Given the description of an element on the screen output the (x, y) to click on. 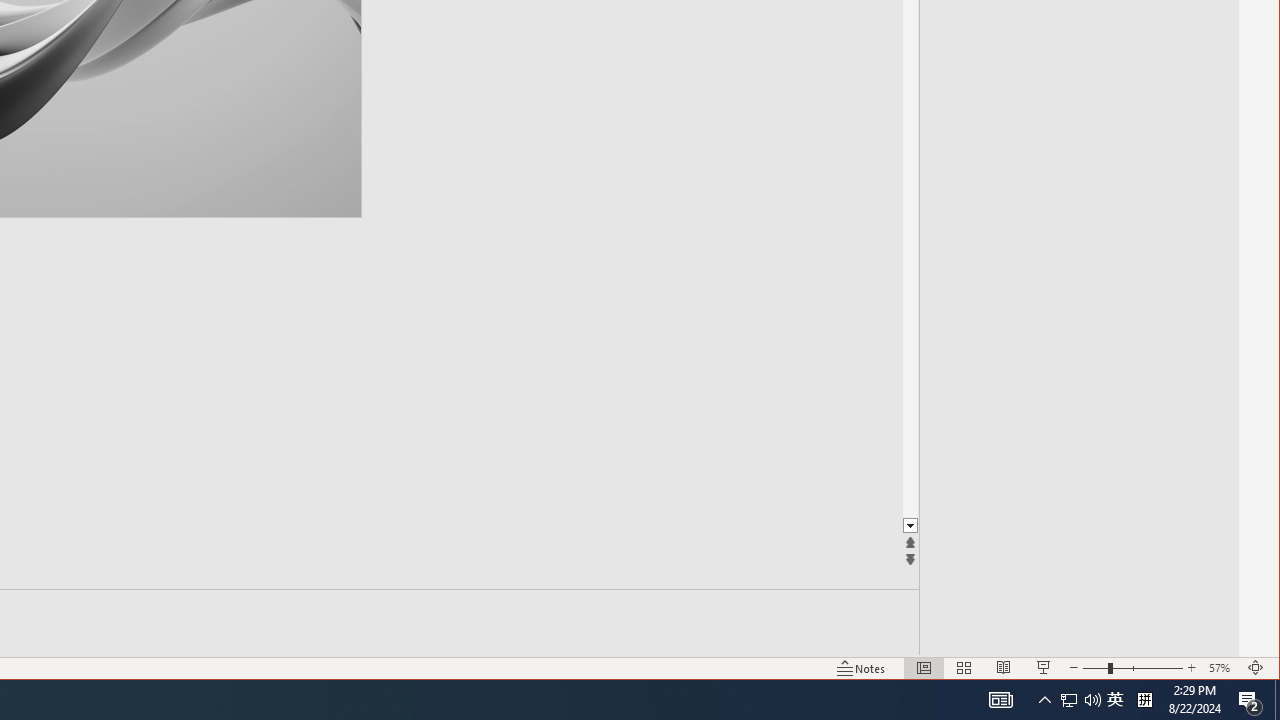
Zoom 57% (1222, 668)
